Given the description of an element on the screen output the (x, y) to click on. 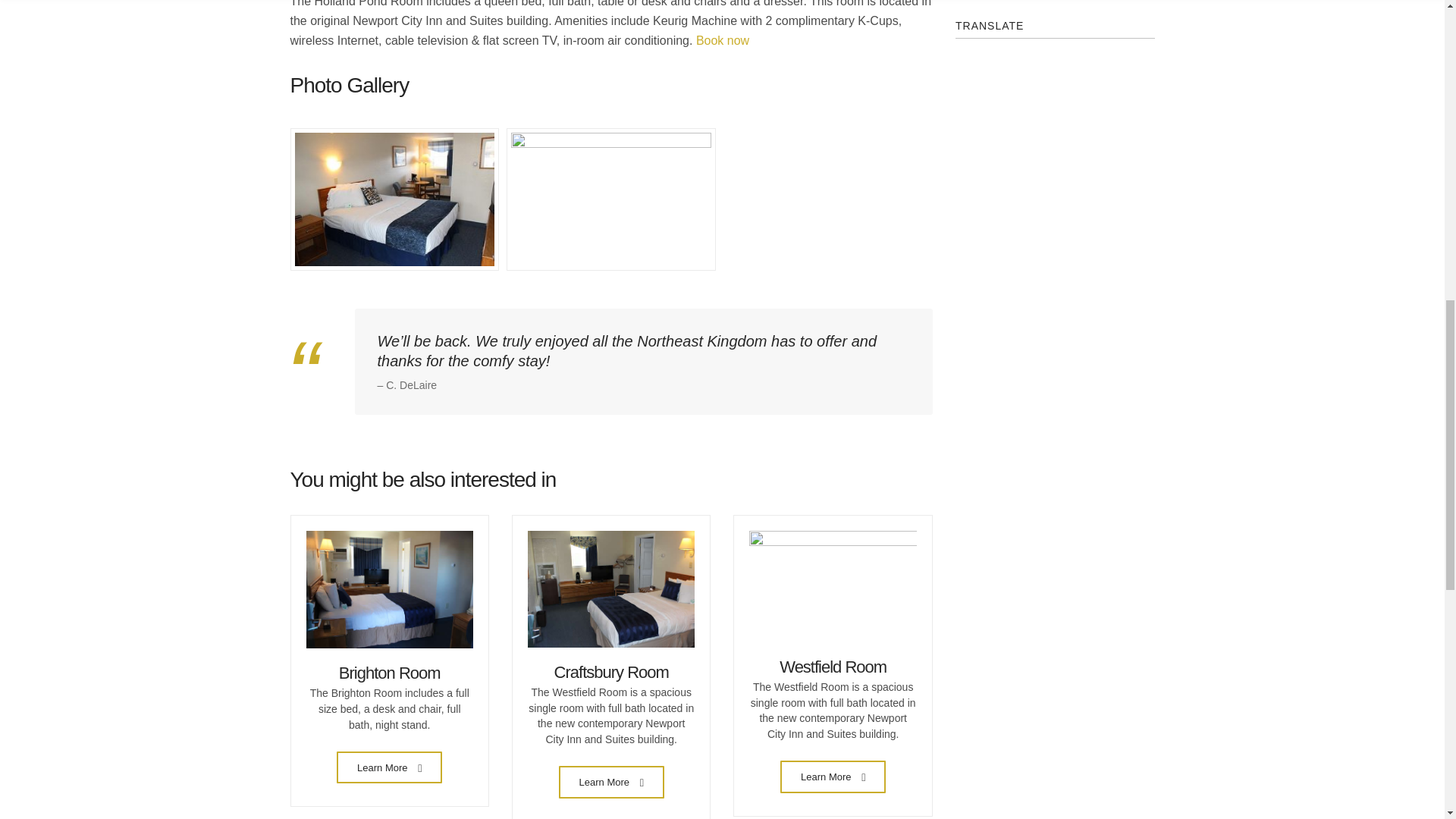
Westfield Room (832, 666)
Craftsbury Room (611, 671)
Brighton Room (390, 672)
Learn More (611, 781)
Book now (722, 40)
Learn More (389, 766)
Learn More (832, 776)
